Given the description of an element on the screen output the (x, y) to click on. 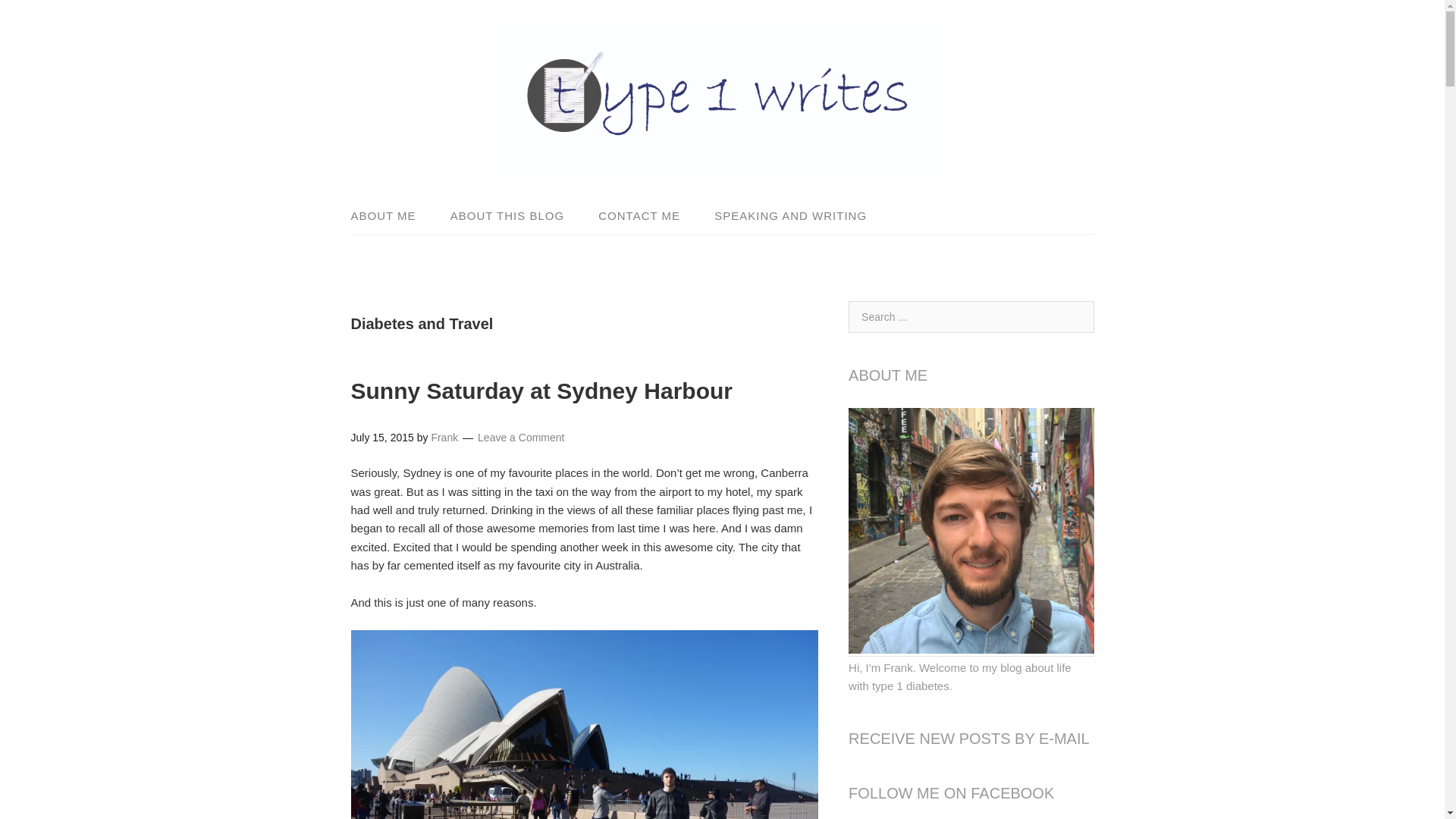
ABOUT THIS BLOG (507, 215)
Leave a Comment (520, 437)
SPEAKING AND WRITING (782, 215)
ABOUT ME (390, 215)
Posts by Frank (444, 437)
Sunny Saturday at Sydney Harbour (541, 390)
Frank (444, 437)
Wednesday, July 15, 2015, 8:00 am (381, 437)
